Given the description of an element on the screen output the (x, y) to click on. 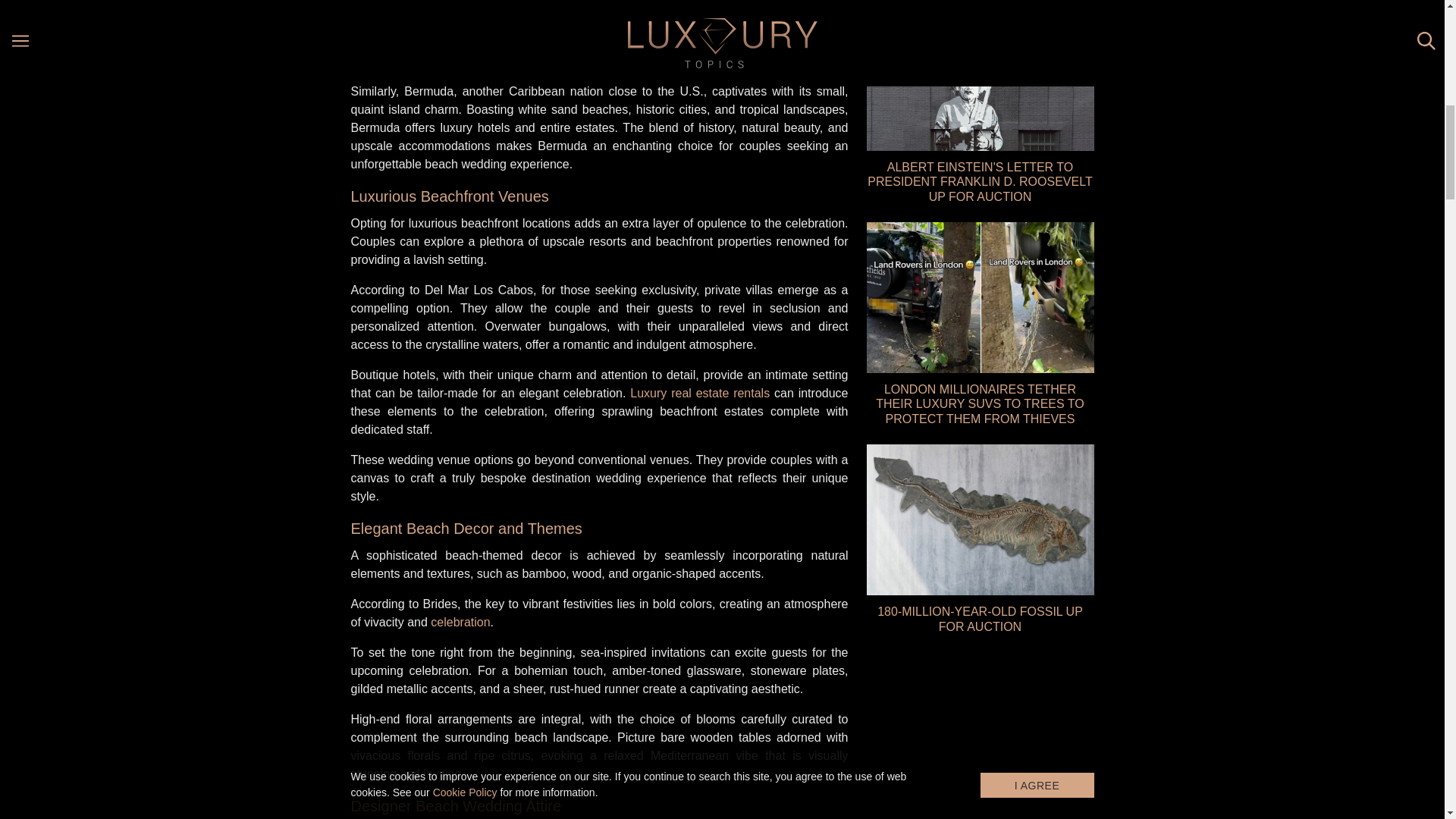
Luxury real estate rentals (700, 392)
celebration (459, 621)
